Given the description of an element on the screen output the (x, y) to click on. 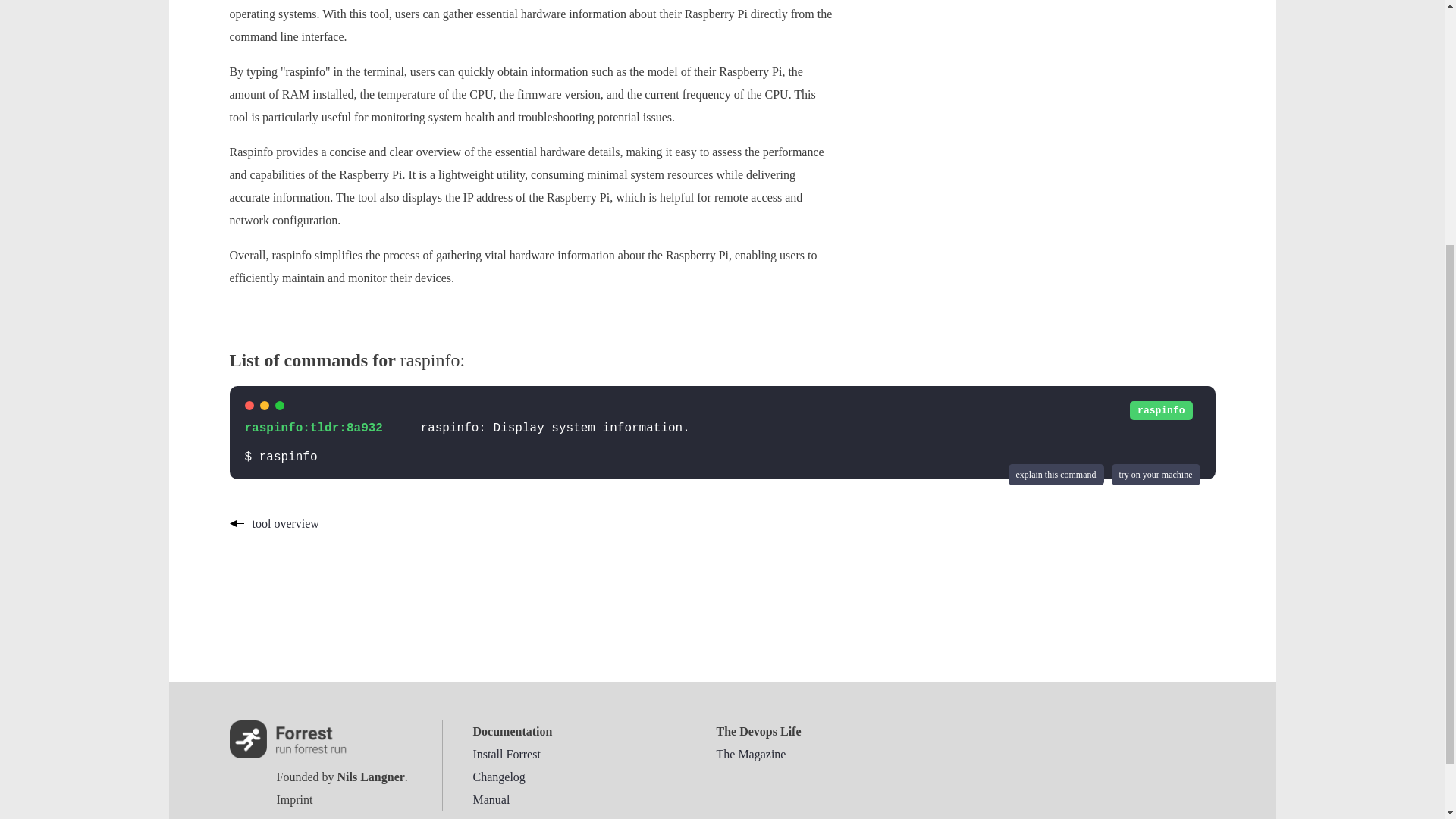
Manual (492, 799)
The Magazine (751, 753)
tool overview (273, 522)
Install Forrest (506, 753)
Nils Langner (370, 776)
Imprint (294, 799)
raspinfo (1161, 410)
Changelog (499, 776)
